Given the description of an element on the screen output the (x, y) to click on. 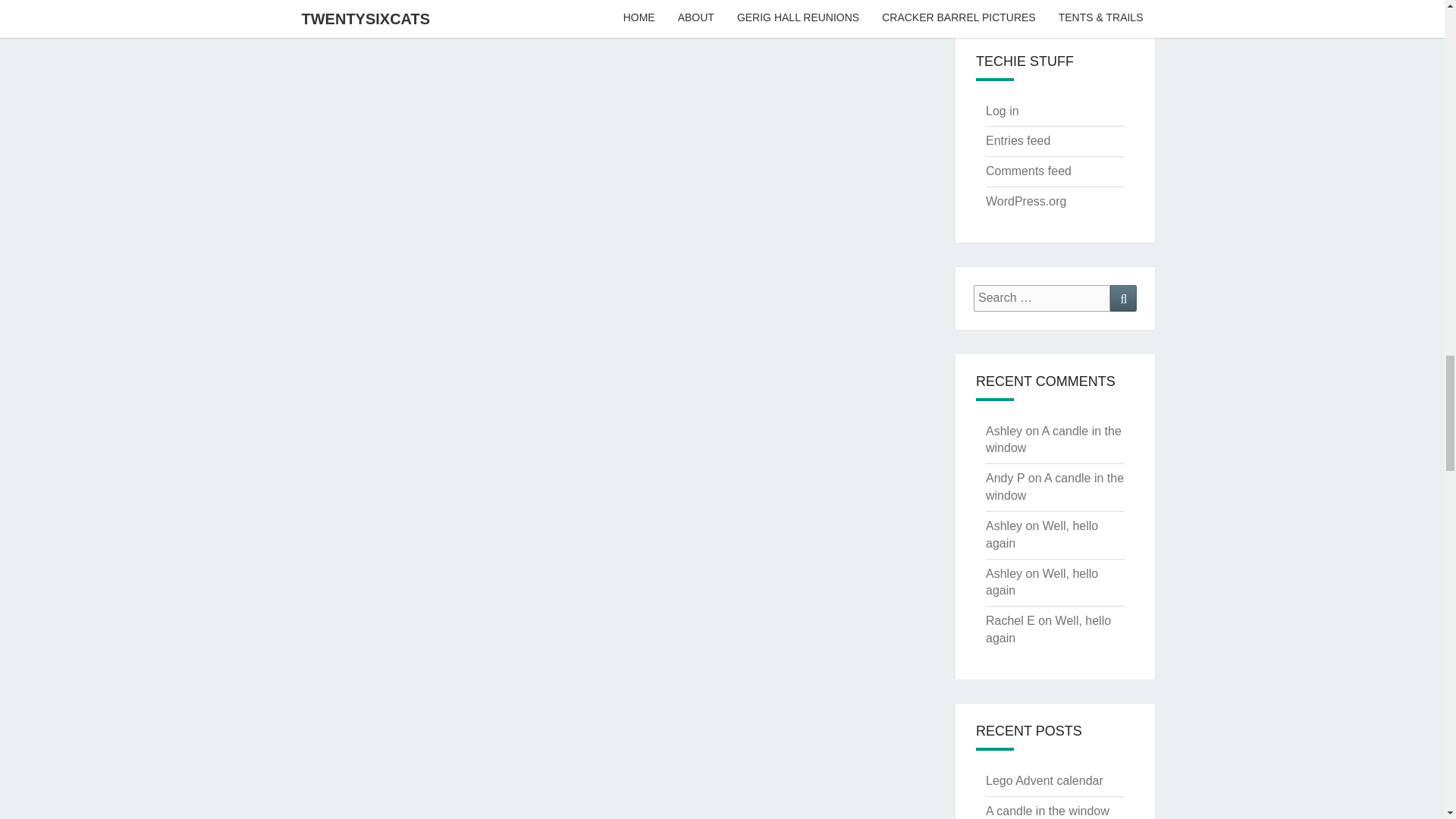
Search for: (1041, 298)
